Given the description of an element on the screen output the (x, y) to click on. 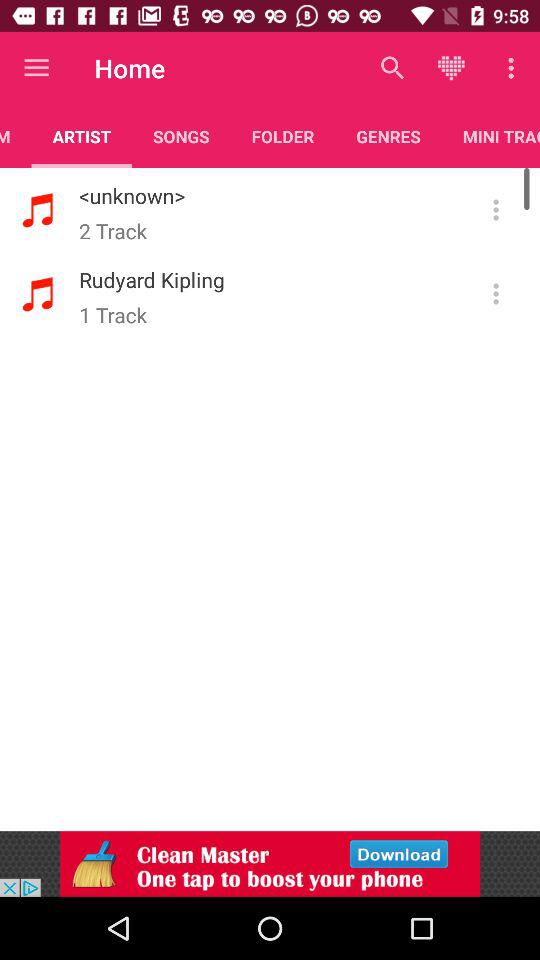
menu button (495, 209)
